Given the description of an element on the screen output the (x, y) to click on. 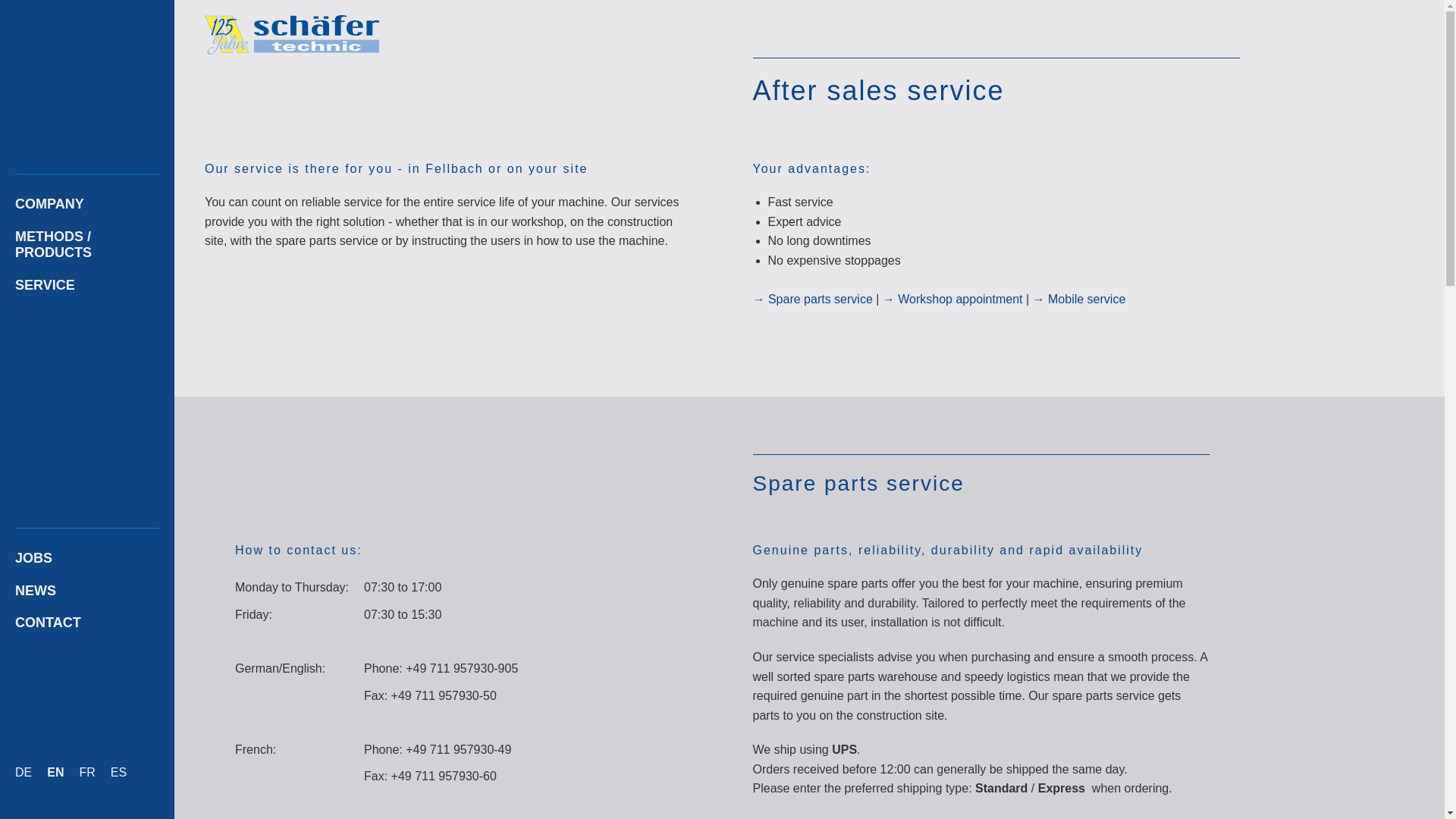
FR (86, 772)
EN (55, 772)
Legal notice (773, 750)
NEWS (87, 591)
CONTACT (87, 623)
Compliance (773, 769)
JOBS (87, 558)
Privacy (760, 789)
ES (118, 772)
SERVICE (87, 286)
COMPANY (87, 205)
DE (23, 772)
